Given the description of an element on the screen output the (x, y) to click on. 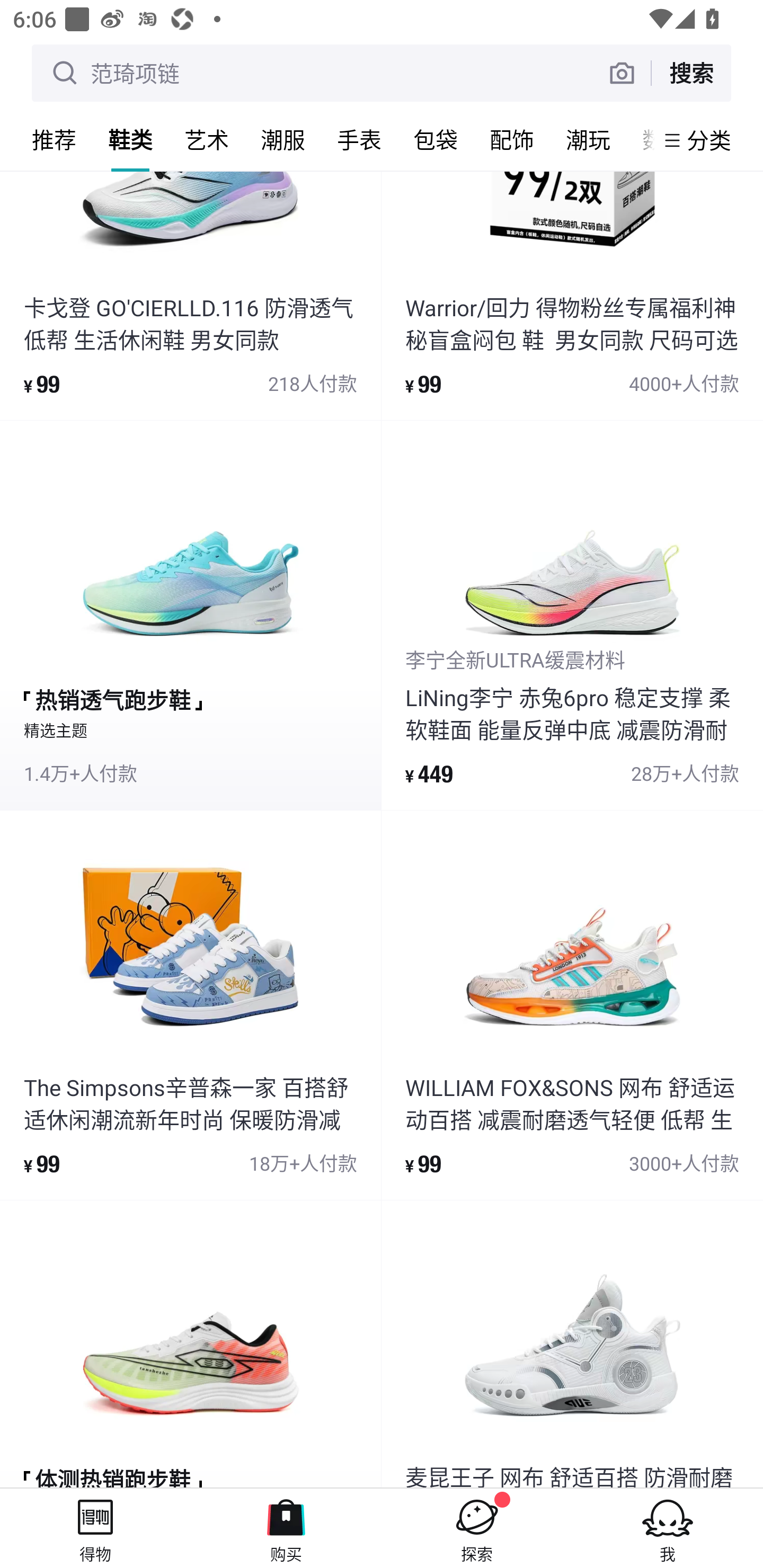
搜索 (690, 72)
推荐 (54, 139)
鞋类 (130, 139)
艺术 (206, 139)
潮服 (282, 139)
手表 (359, 139)
包袋 (435, 139)
配饰 (511, 139)
潮玩 (588, 139)
分类 (708, 139)
热销透气跑步鞋 精选主题 1.4万+人付款 (190, 615)
体测热销跑步鞋 (190, 1344)
product_item 麦昆王子 网布 舒适百搭 防滑耐磨 
休闲运动 高帮 篮球鞋 男女同款 (572, 1344)
得物 (95, 1528)
购买 (285, 1528)
探索 (476, 1528)
我 (667, 1528)
